Given the description of an element on the screen output the (x, y) to click on. 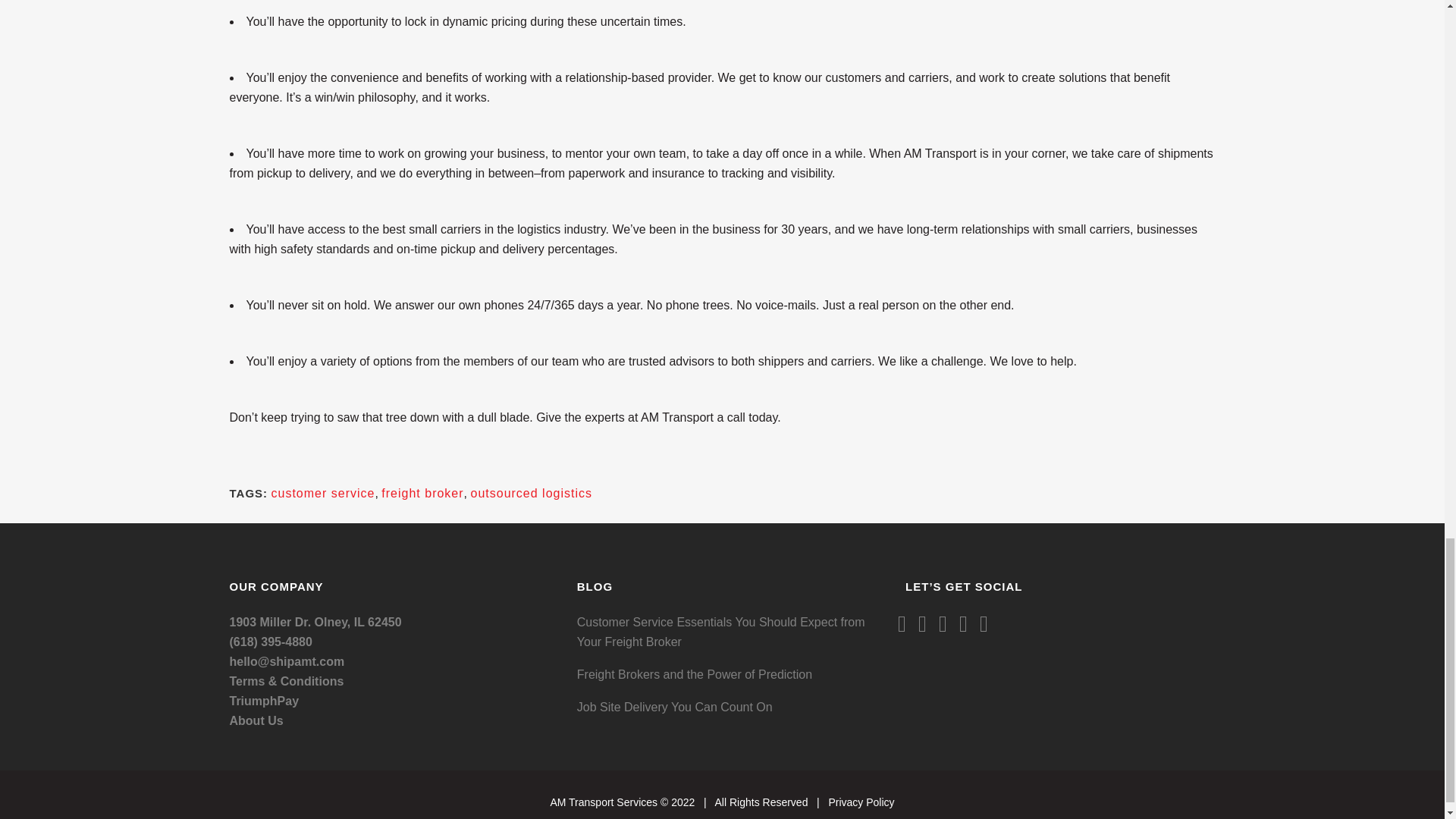
Job Site Delivery You Can Count On (729, 707)
outsourced logistics (531, 492)
About Us (255, 720)
freight broker (422, 492)
Freight Brokers and the Power of Prediction (729, 674)
customer service (322, 492)
Privacy Policy (860, 802)
TriumphPay (263, 700)
